Given the description of an element on the screen output the (x, y) to click on. 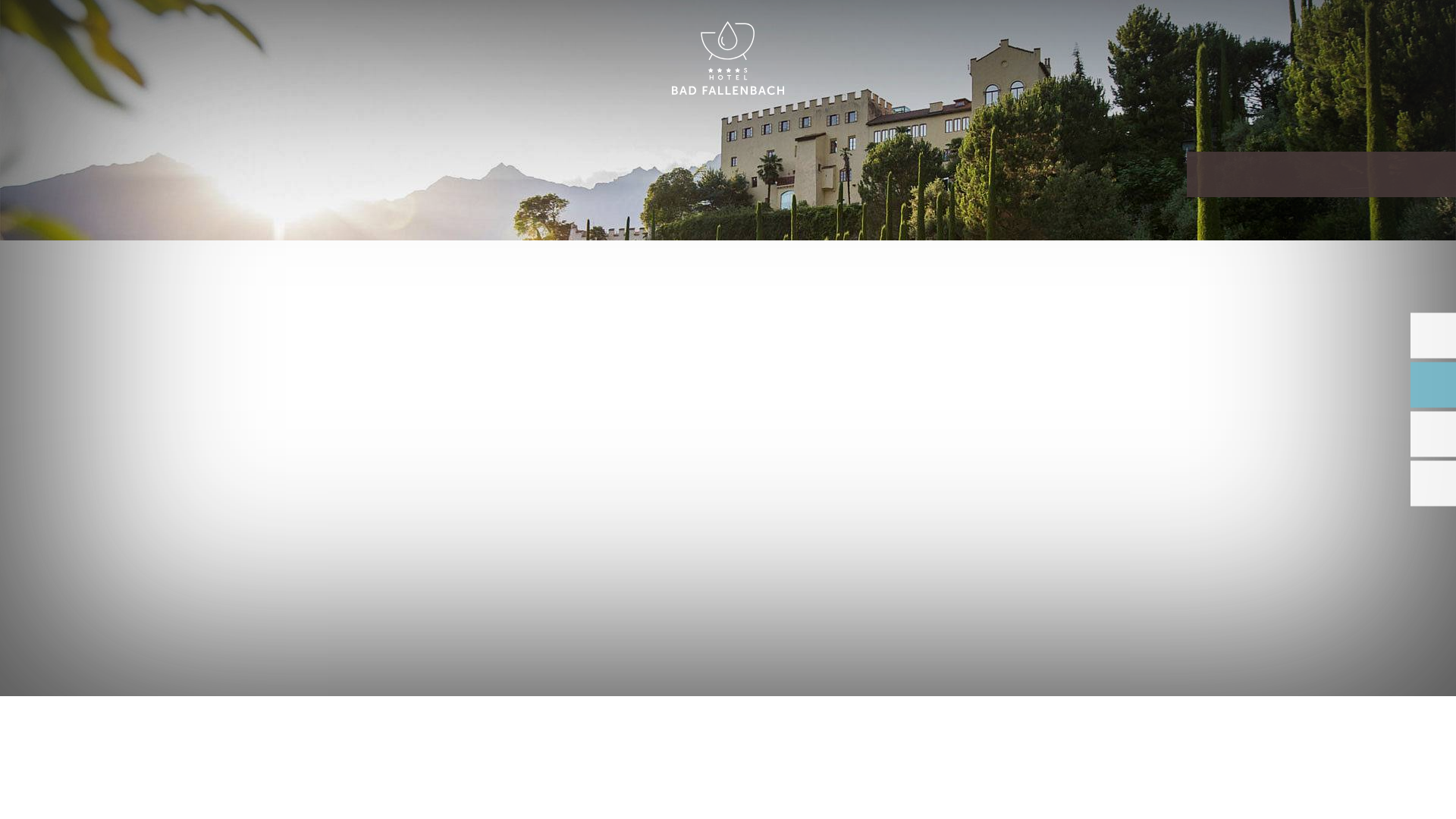
ENGLISH (1291, 29)
HOTEL BAD FALLENBACH (727, 59)
